Given the description of an element on the screen output the (x, y) to click on. 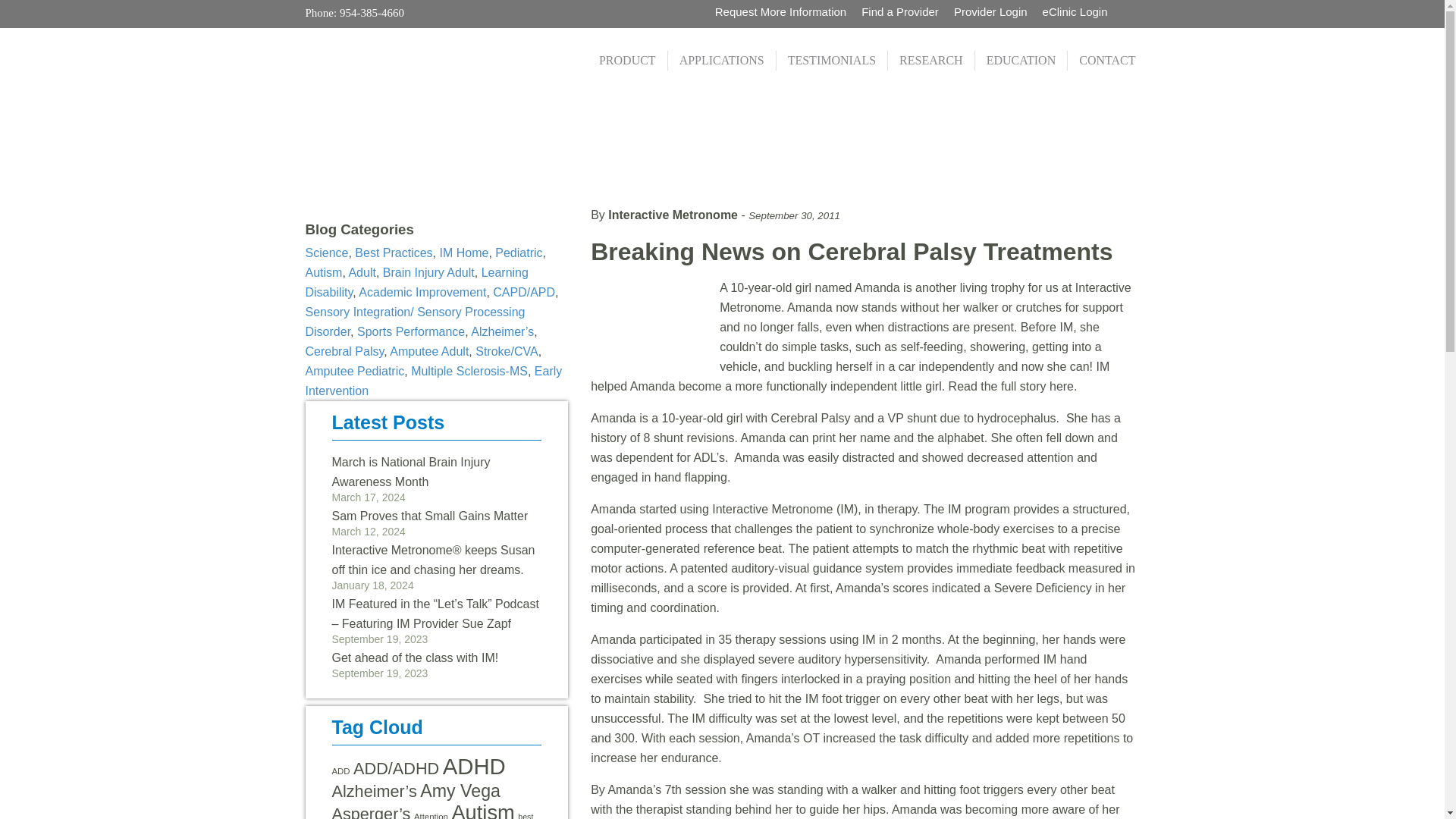
View all posts in Pediatric (518, 252)
View all posts in Sports Performance (410, 331)
Find a Provider (899, 11)
View all posts in IM Home (463, 252)
APPLICATIONS (722, 60)
Request More Information (780, 11)
eClinic Login (1075, 11)
View all posts in Brain Injury Adult (428, 272)
View all posts in Learning Disability (415, 282)
954-385-4660 (370, 12)
View all posts in Amputee Adult (429, 350)
View all posts in Cerebral Palsy (344, 350)
RESEARCH (931, 60)
View all posts in Best Practices (393, 252)
EDUCATION (1021, 60)
